Given the description of an element on the screen output the (x, y) to click on. 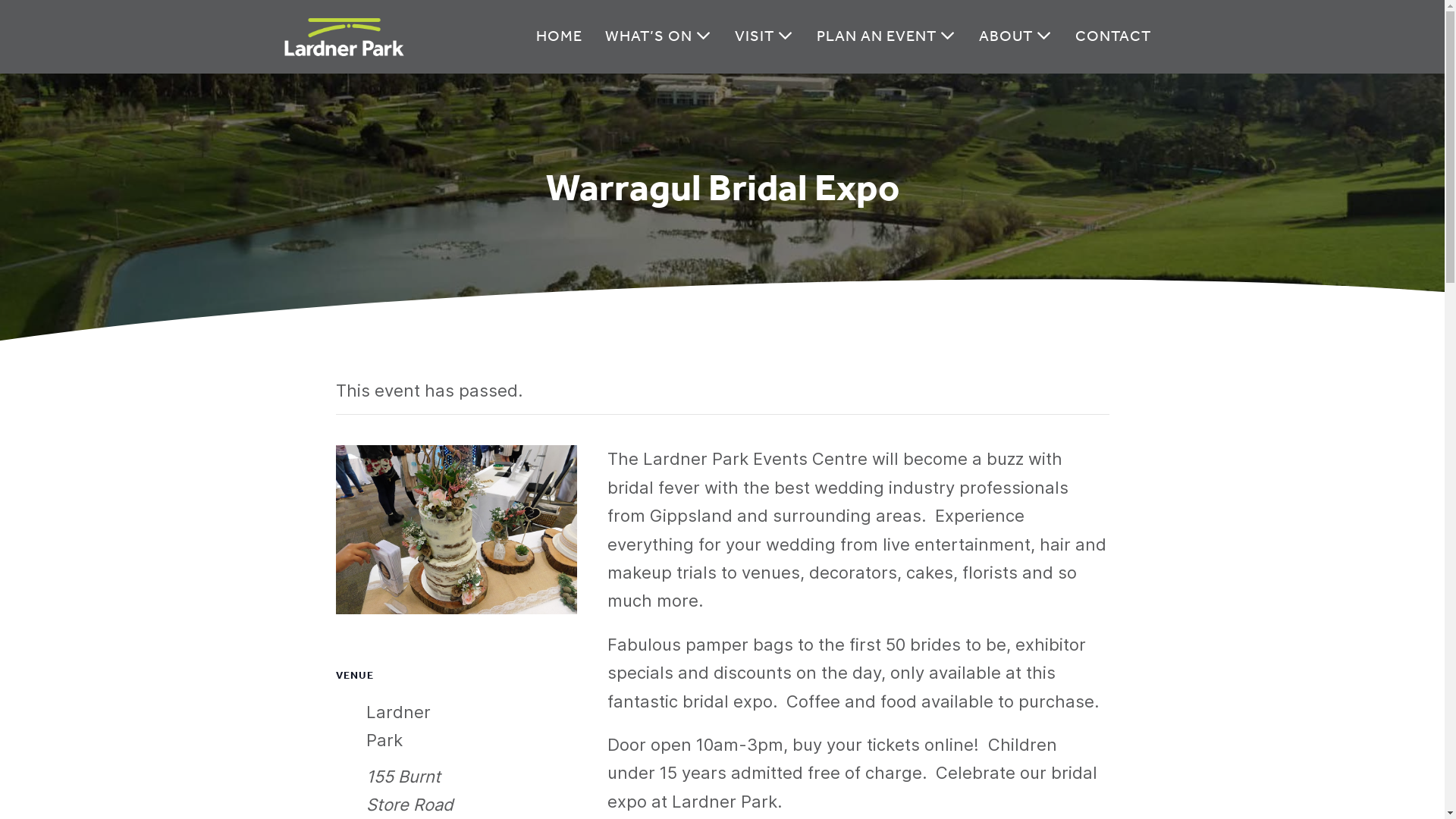
Jo - Bridal Expo Element type: hover (455, 529)
Sign Up Element type: text (571, 687)
HOME Element type: text (558, 36)
VISIT Element type: text (764, 36)
CONTACT Element type: text (1112, 36)
ABOUT Element type: text (1015, 36)
PLAN AN EVENT Element type: text (886, 36)
Lardner Park Element type: hover (343, 36)
